Given the description of an element on the screen output the (x, y) to click on. 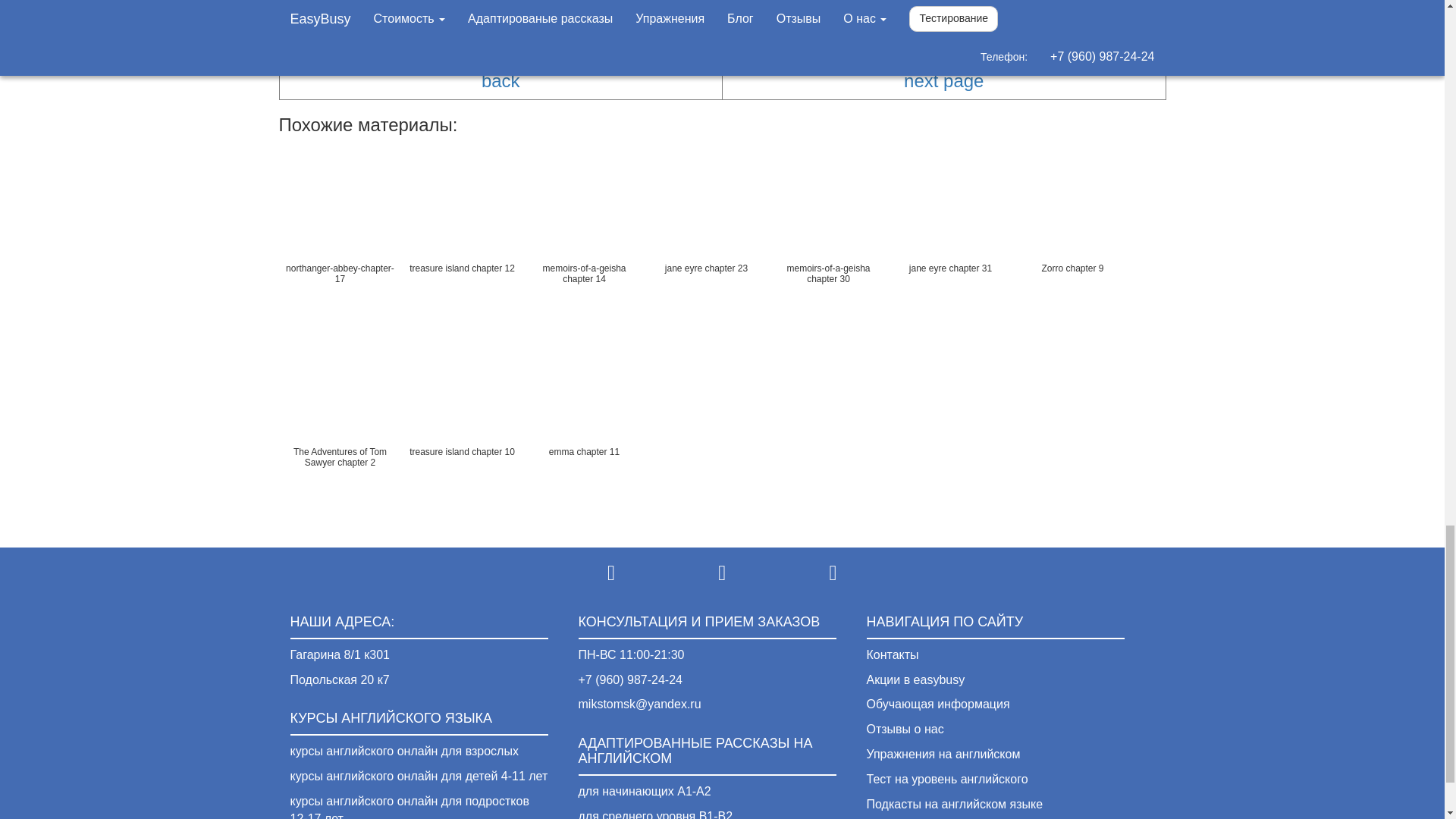
back (500, 80)
next page (944, 80)
